Given the description of an element on the screen output the (x, y) to click on. 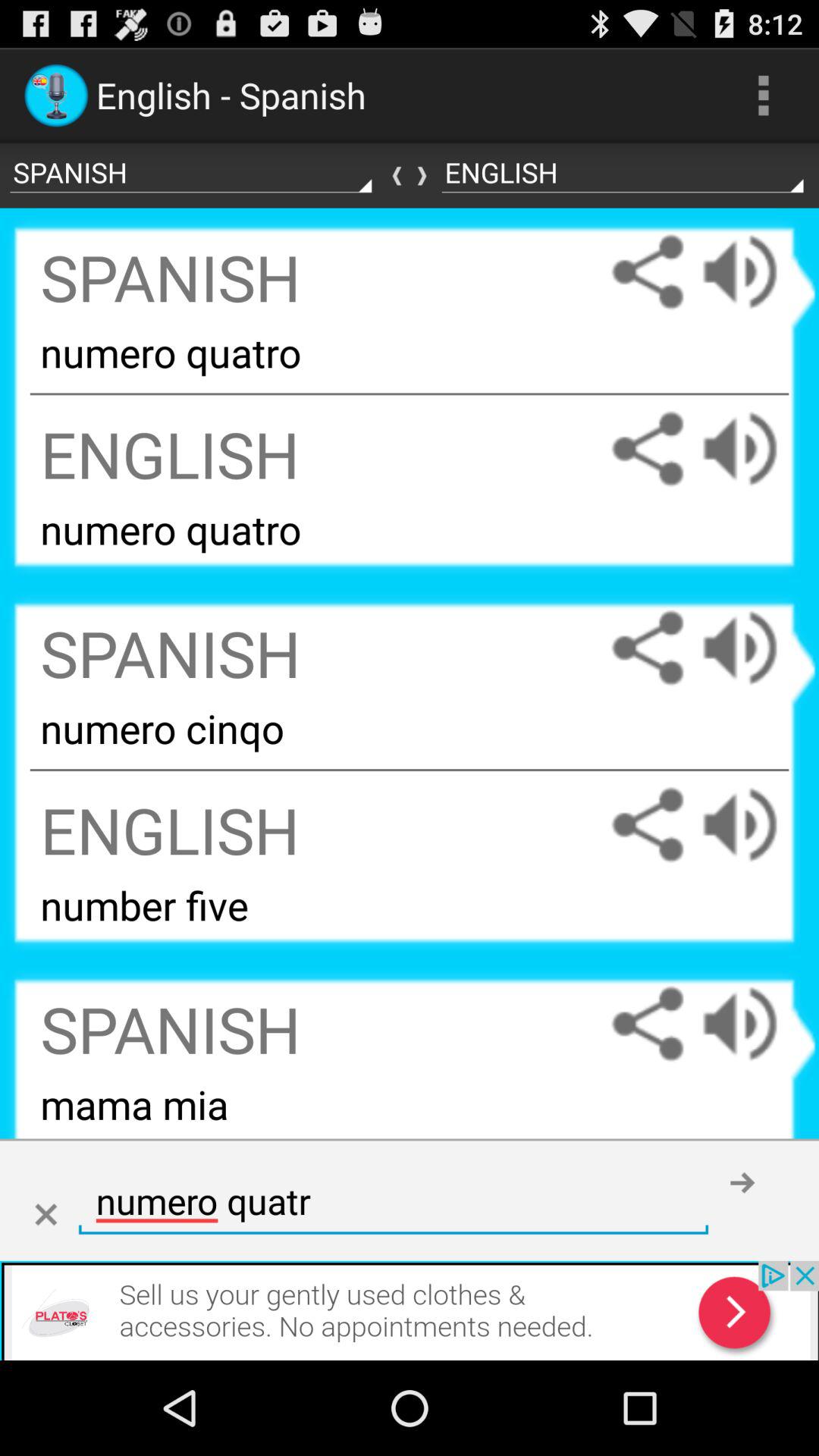
go to volume (754, 824)
